Given the description of an element on the screen output the (x, y) to click on. 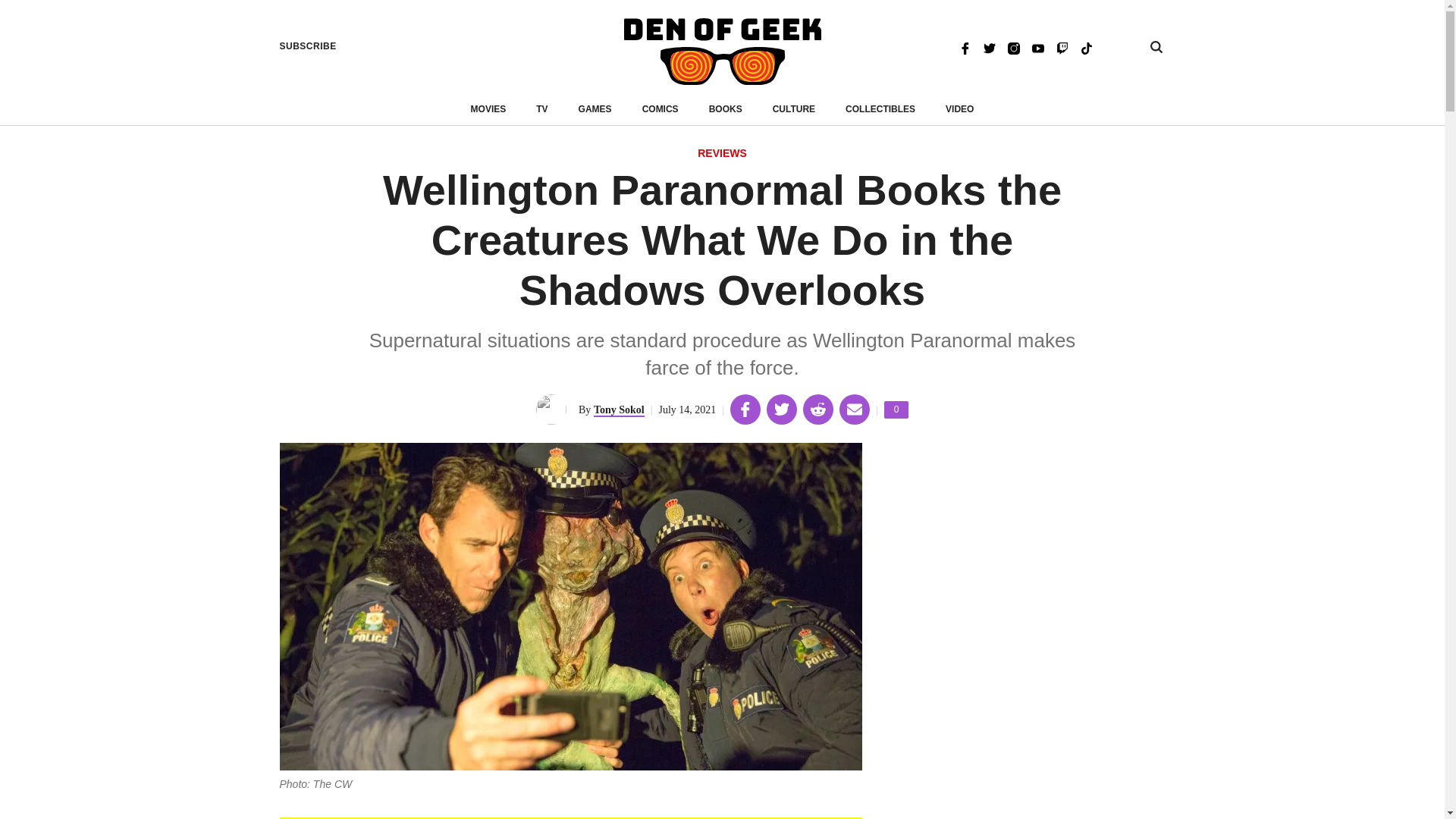
VIDEO (959, 109)
BOOKS (725, 109)
GAMES (594, 109)
TikTok (1085, 46)
Instagram (1013, 46)
MOVIES (488, 109)
Den of Geek (722, 52)
CULTURE (794, 109)
REVIEWS (895, 409)
Twitch (721, 153)
COMICS (1061, 46)
SUBSCRIBE (660, 109)
Twitter (307, 46)
Tony Sokol (988, 46)
